Given the description of an element on the screen output the (x, y) to click on. 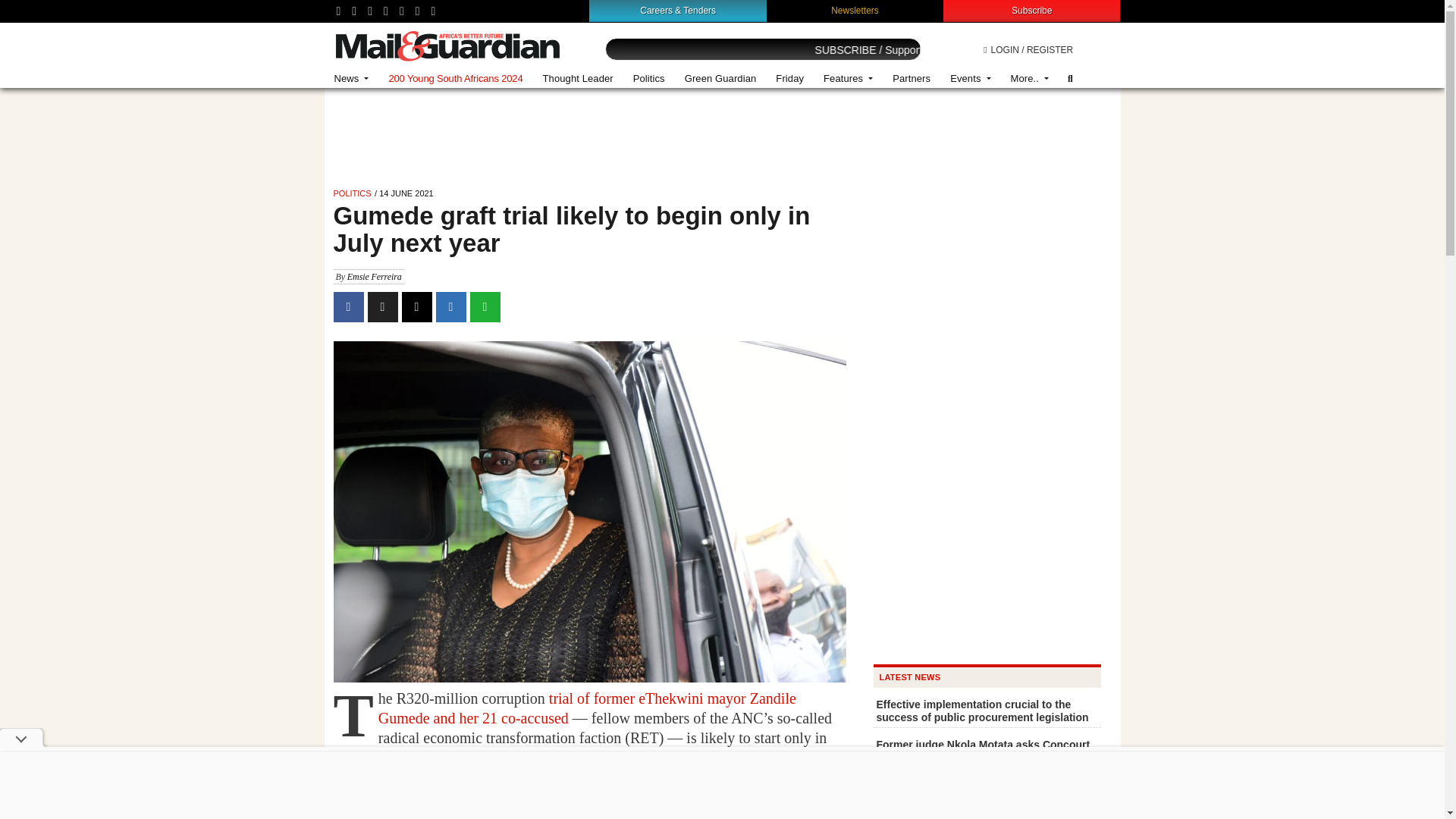
Newsletters (855, 9)
Green Guardian (721, 78)
Politics (649, 78)
200 Young South Africans 2024 (455, 78)
Subscribe (1031, 9)
News (351, 78)
Thought Leader (577, 78)
News (351, 78)
Friday (789, 78)
